Given the description of an element on the screen output the (x, y) to click on. 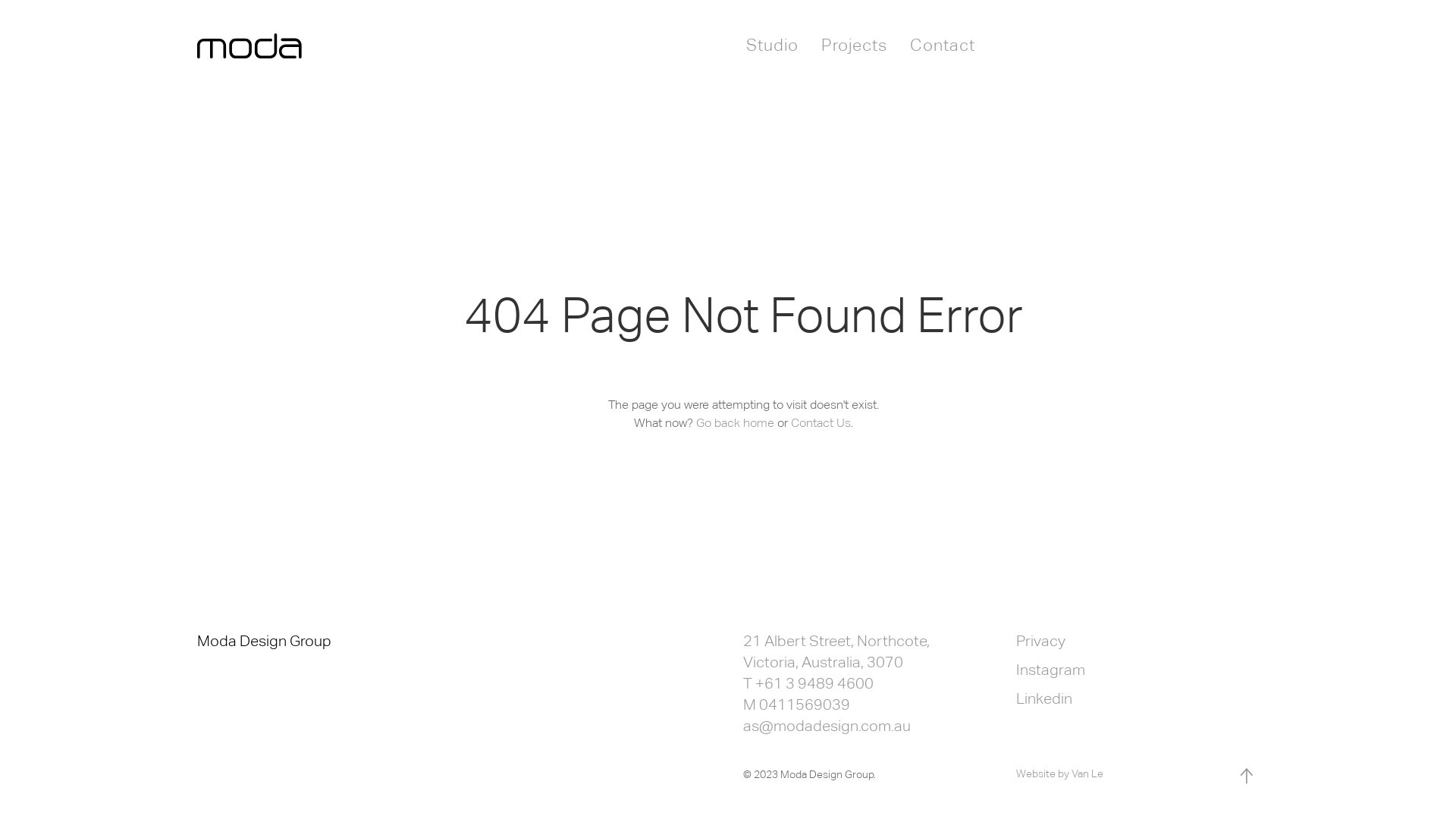
Contact Us Element type: text (820, 422)
Studio Element type: text (771, 45)
Go back home Element type: text (735, 422)
0411569039 Element type: text (804, 704)
Van Le Element type: text (1087, 773)
as@modadesign.com.au Element type: text (826, 725)
Projects Element type: text (853, 45)
Privacy Element type: text (1040, 640)
Instagram Element type: text (1050, 669)
21 Albert Street, Northcote,
Victoria, Australia, 3070 Element type: text (836, 651)
+61 3 9489 4600 Element type: text (814, 682)
Linkedin Element type: text (1044, 698)
Moda Design Group Element type: text (264, 640)
Contact Element type: text (942, 45)
